Given the description of an element on the screen output the (x, y) to click on. 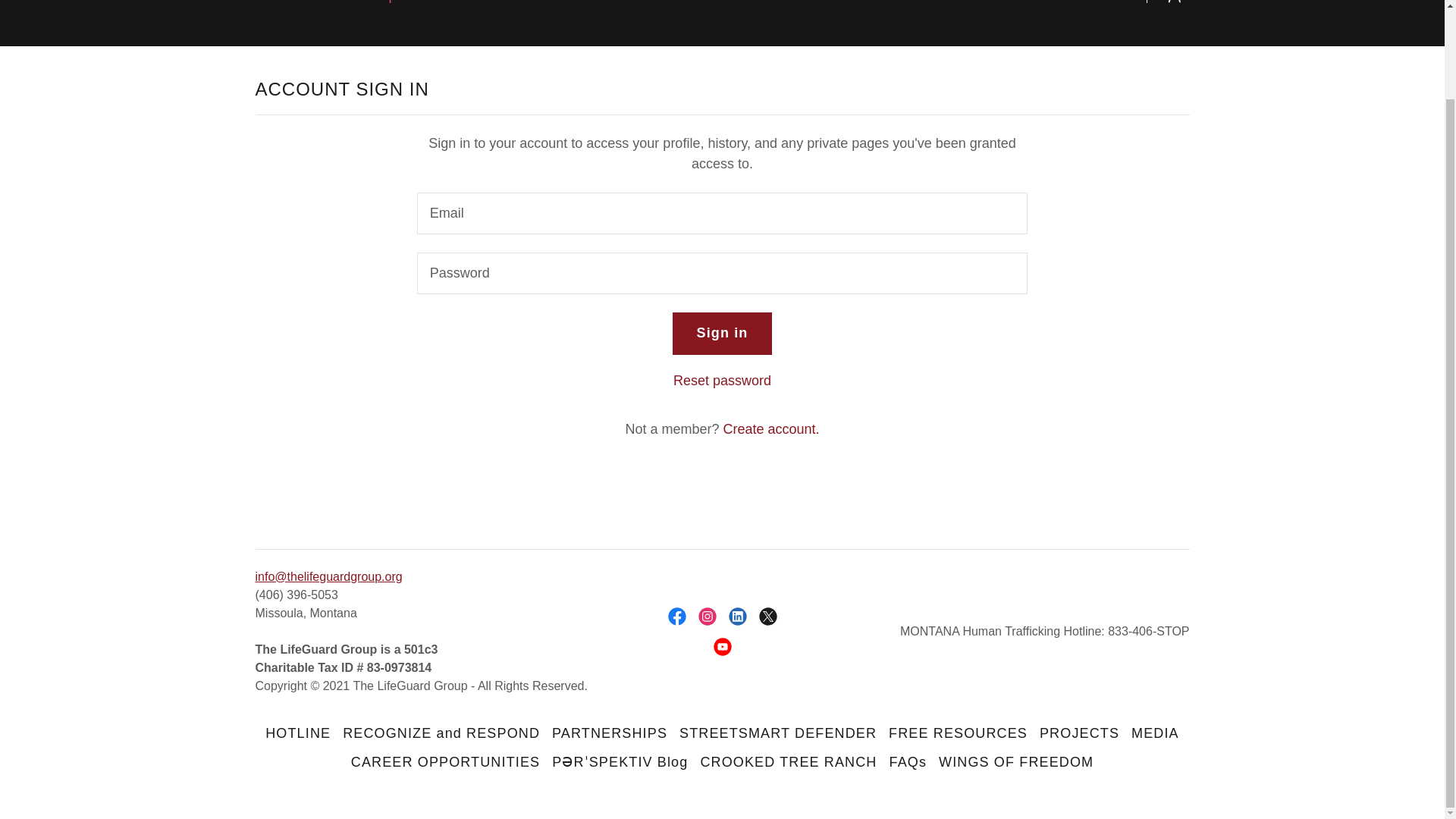
The LifeGuard Group New Launch (365, 1)
